Given the description of an element on the screen output the (x, y) to click on. 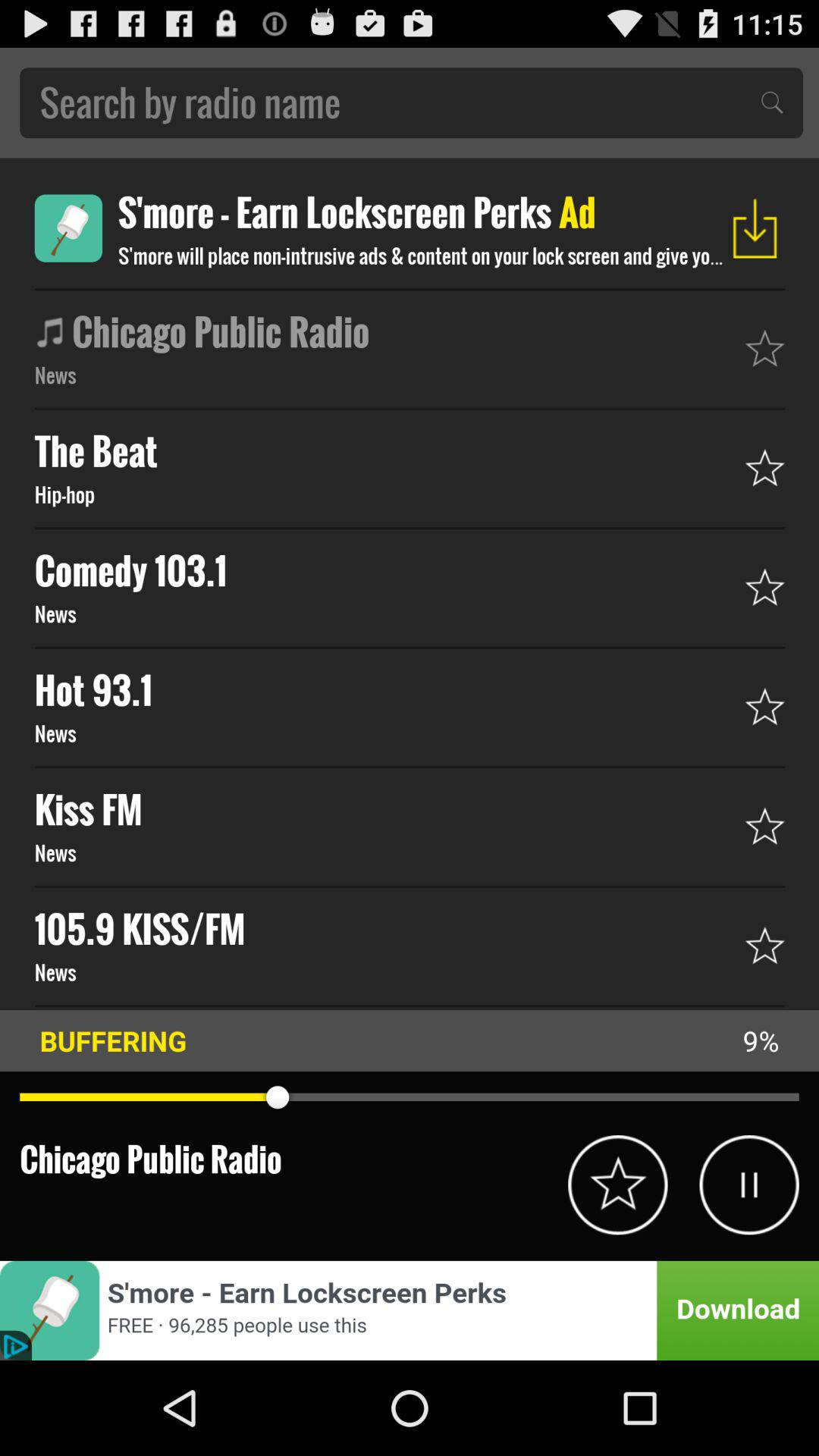
go to advertisement page (409, 1310)
